Given the description of an element on the screen output the (x, y) to click on. 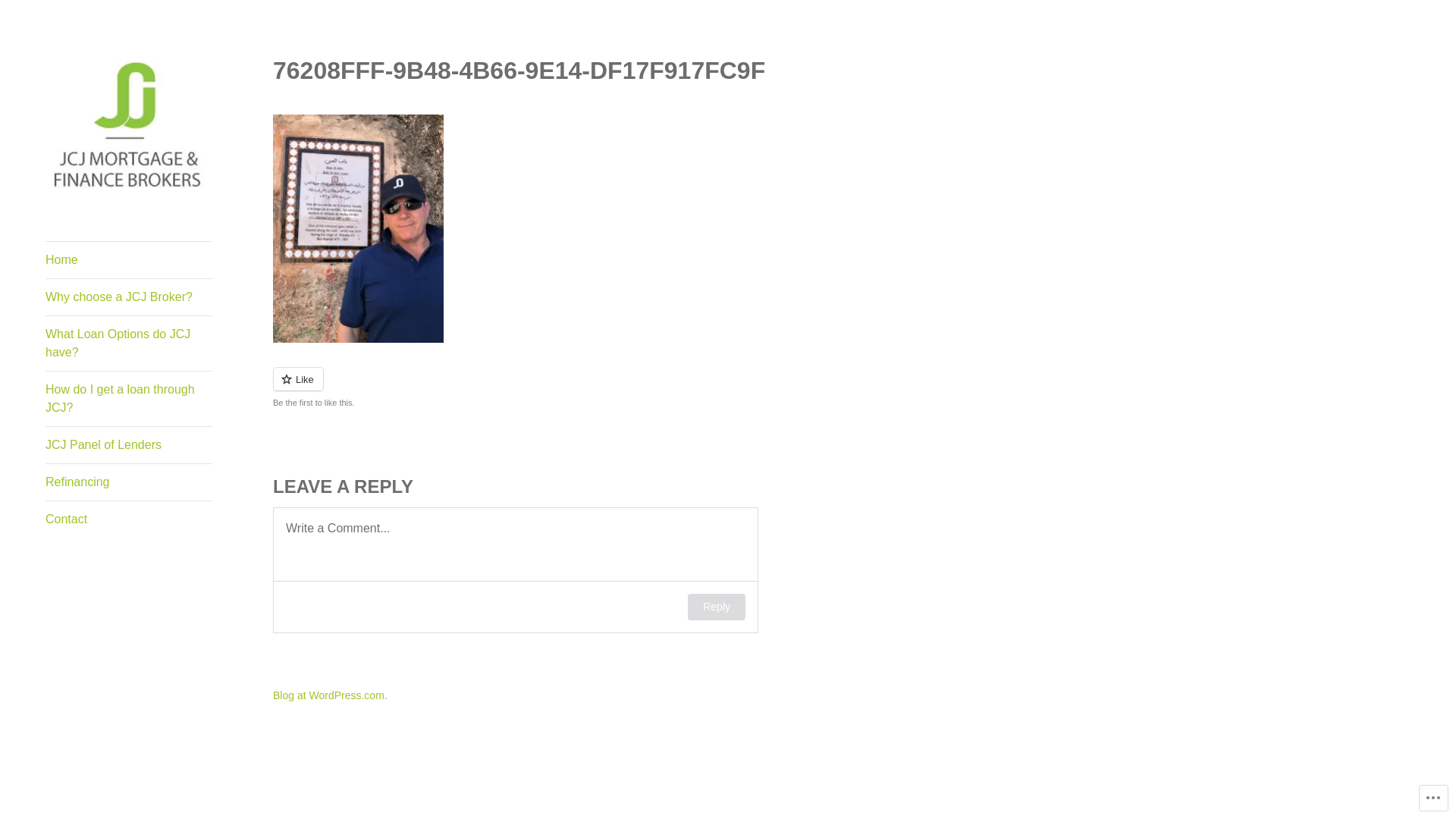
Home Element type: text (128, 259)
What Loan Options do JCJ have? Element type: text (128, 343)
Like or Reblog Element type: hover (606, 387)
JCJ Panel of Lenders Element type: text (128, 444)
Reply Element type: text (716, 606)
Refinancing Element type: text (128, 482)
How do I get a loan through JCJ? Element type: text (128, 398)
Blog at WordPress.com. Element type: text (330, 695)
Contact Element type: text (128, 519)
Why choose a JCJ Broker? Element type: text (128, 297)
